Given the description of an element on the screen output the (x, y) to click on. 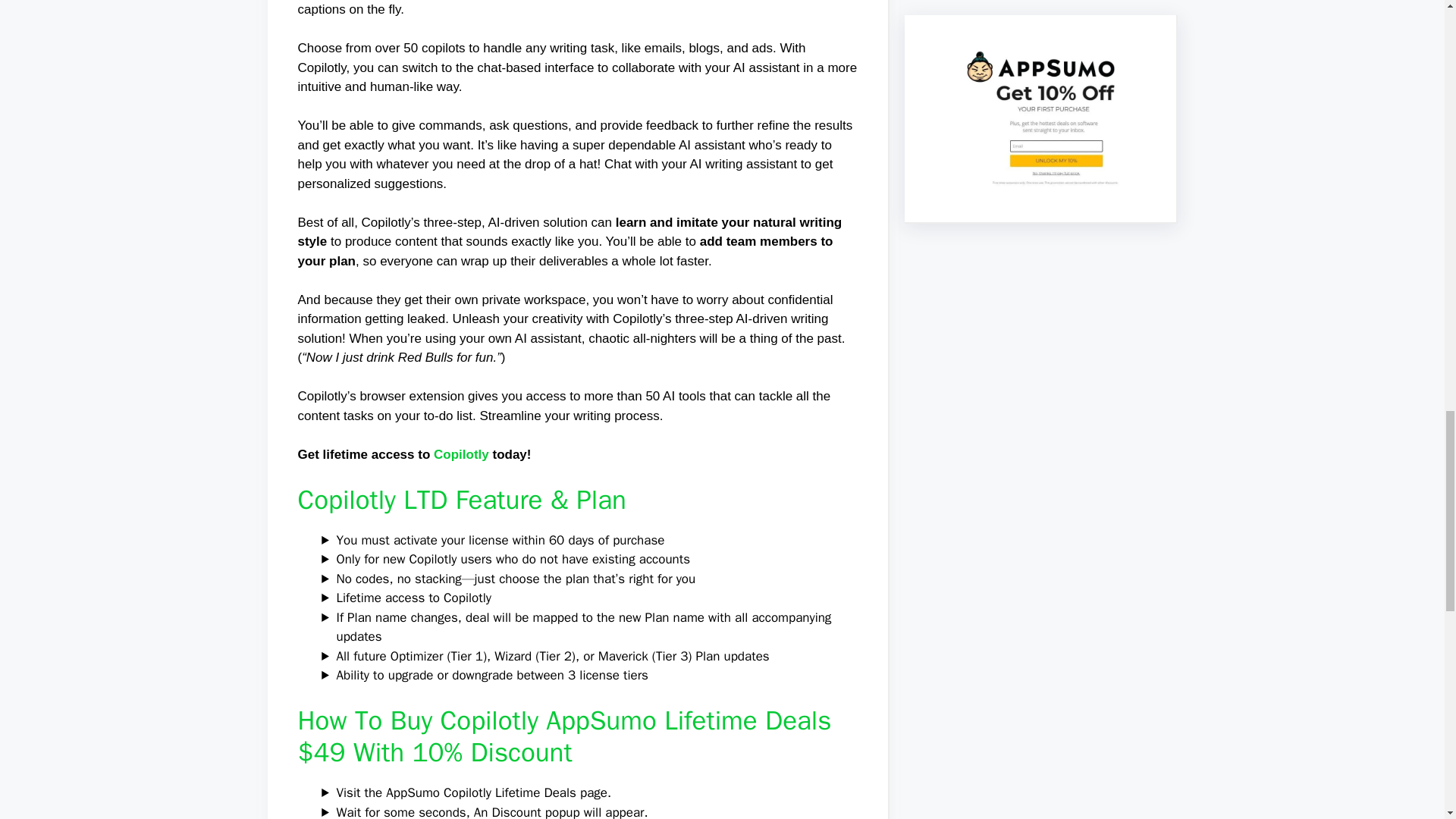
Copilotly (461, 454)
